Given the description of an element on the screen output the (x, y) to click on. 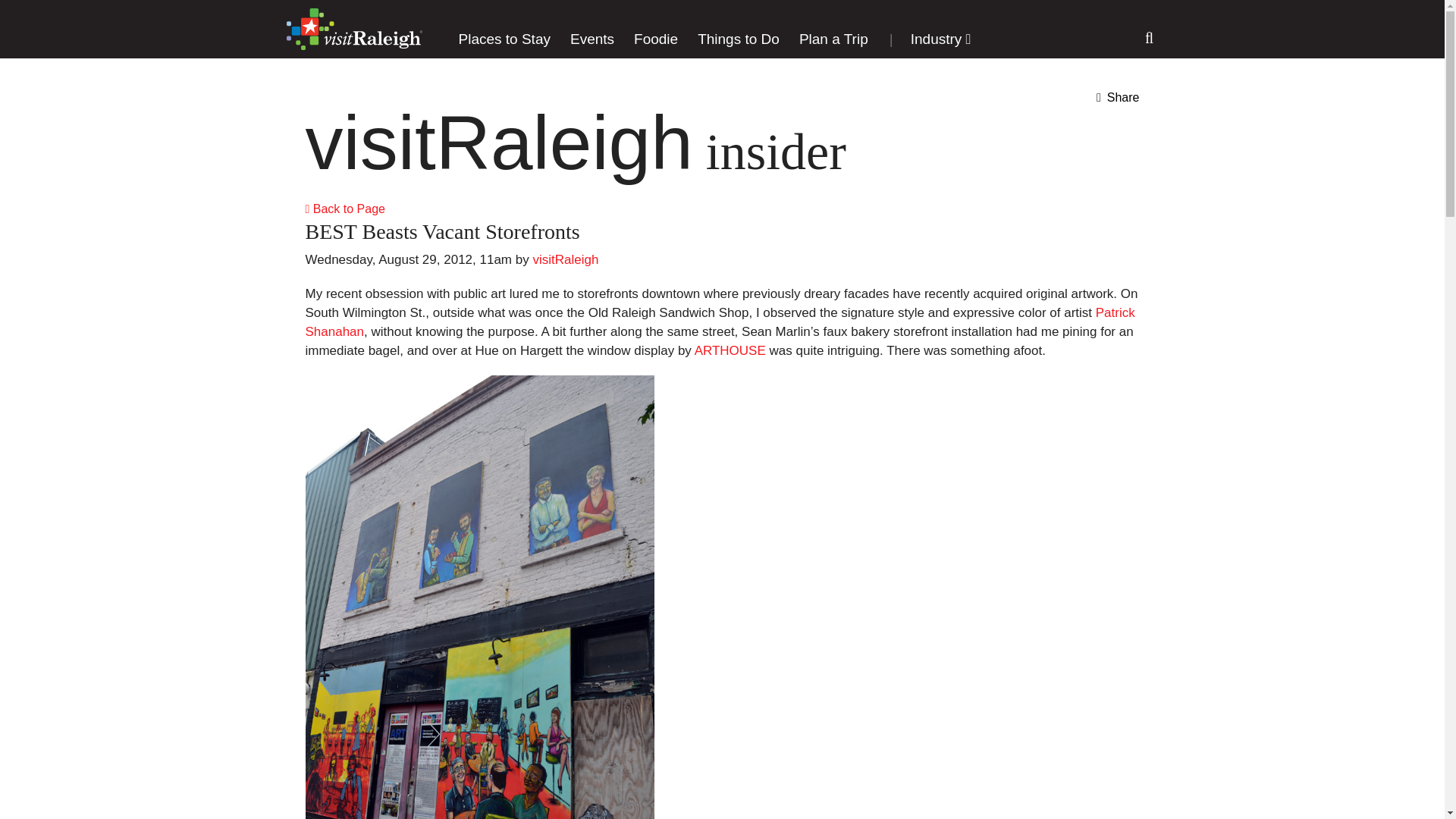
Places to Stay (504, 39)
Events (592, 39)
Foodie (655, 39)
Places to Stay (504, 39)
Events (592, 39)
